Given the description of an element on the screen output the (x, y) to click on. 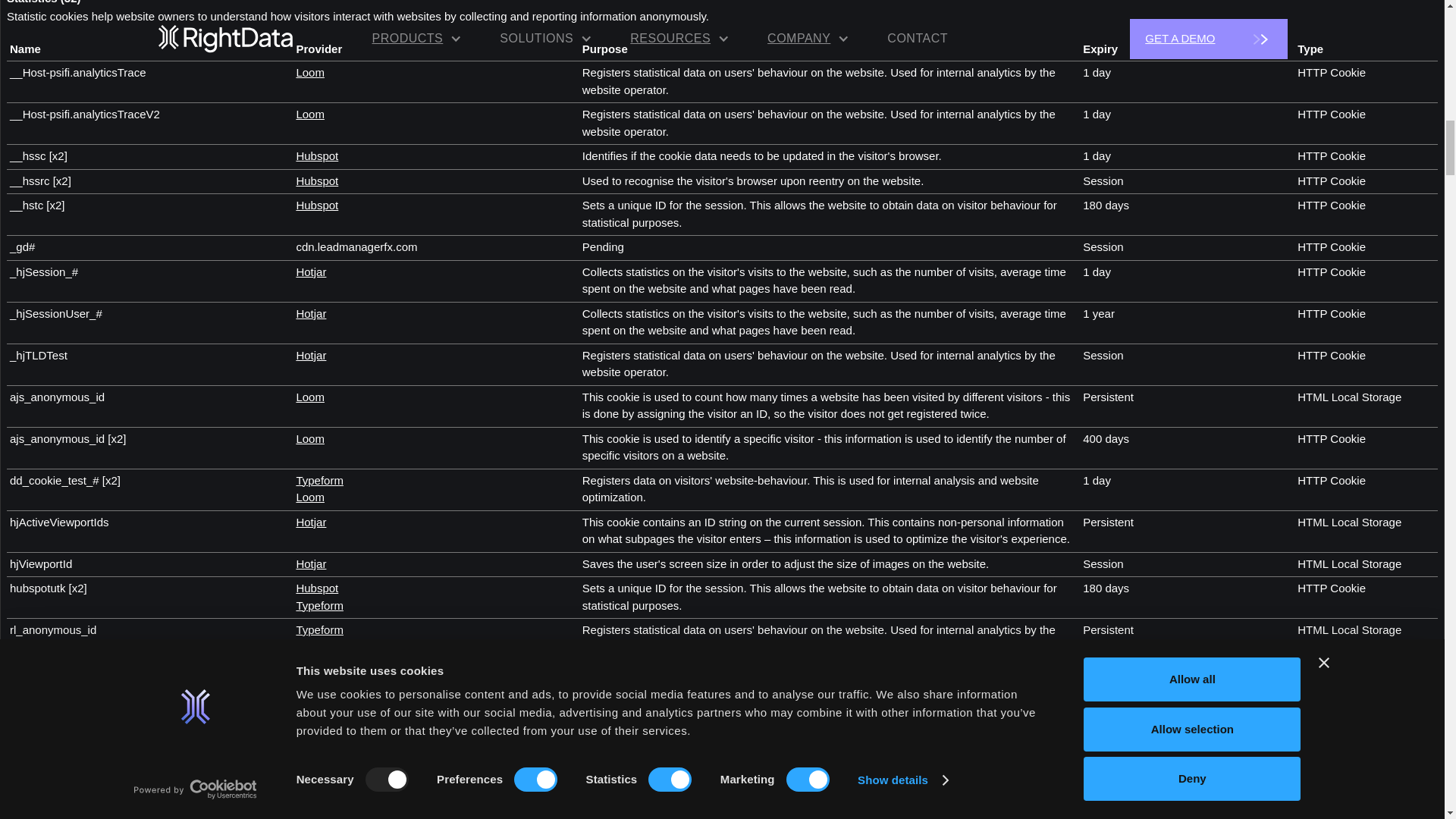
Hubspot (316, 155)
Loom (309, 72)
Loom (309, 113)
Hubspot (316, 180)
Hubspot (316, 205)
